Given the description of an element on the screen output the (x, y) to click on. 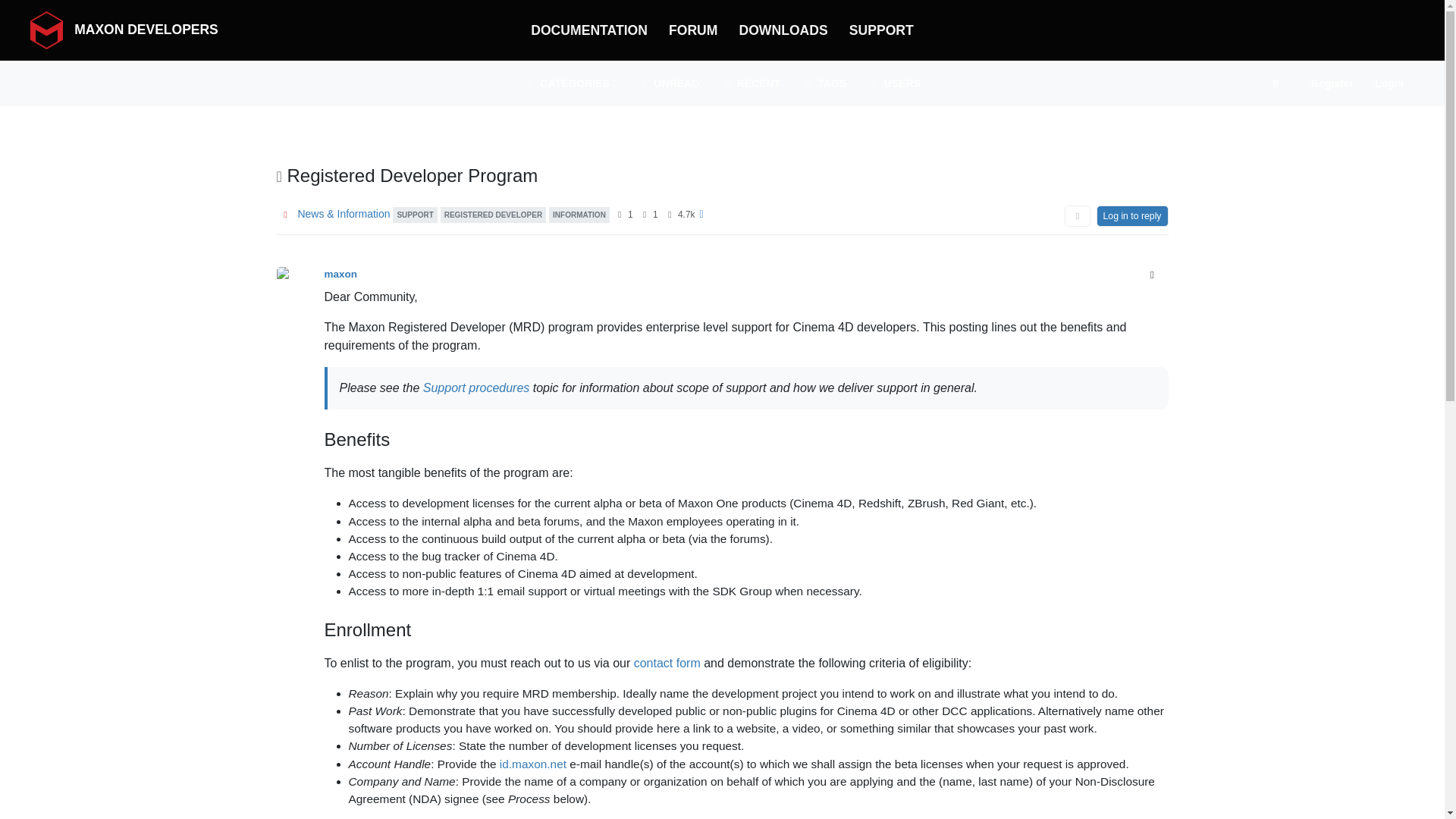
SUPPORT (881, 29)
MAXON DEVELOPERS (124, 30)
Posts (644, 214)
Register (1332, 83)
DOCUMENTATION (588, 29)
REGISTERED DEVELOPER (493, 214)
SUPPORT (414, 214)
UNREAD (668, 83)
Views (669, 214)
FORUM (693, 29)
CATEGORIES (570, 83)
Search (1275, 83)
Posters (620, 214)
DOWNLOADS (783, 29)
Login (1388, 83)
